Given the description of an element on the screen output the (x, y) to click on. 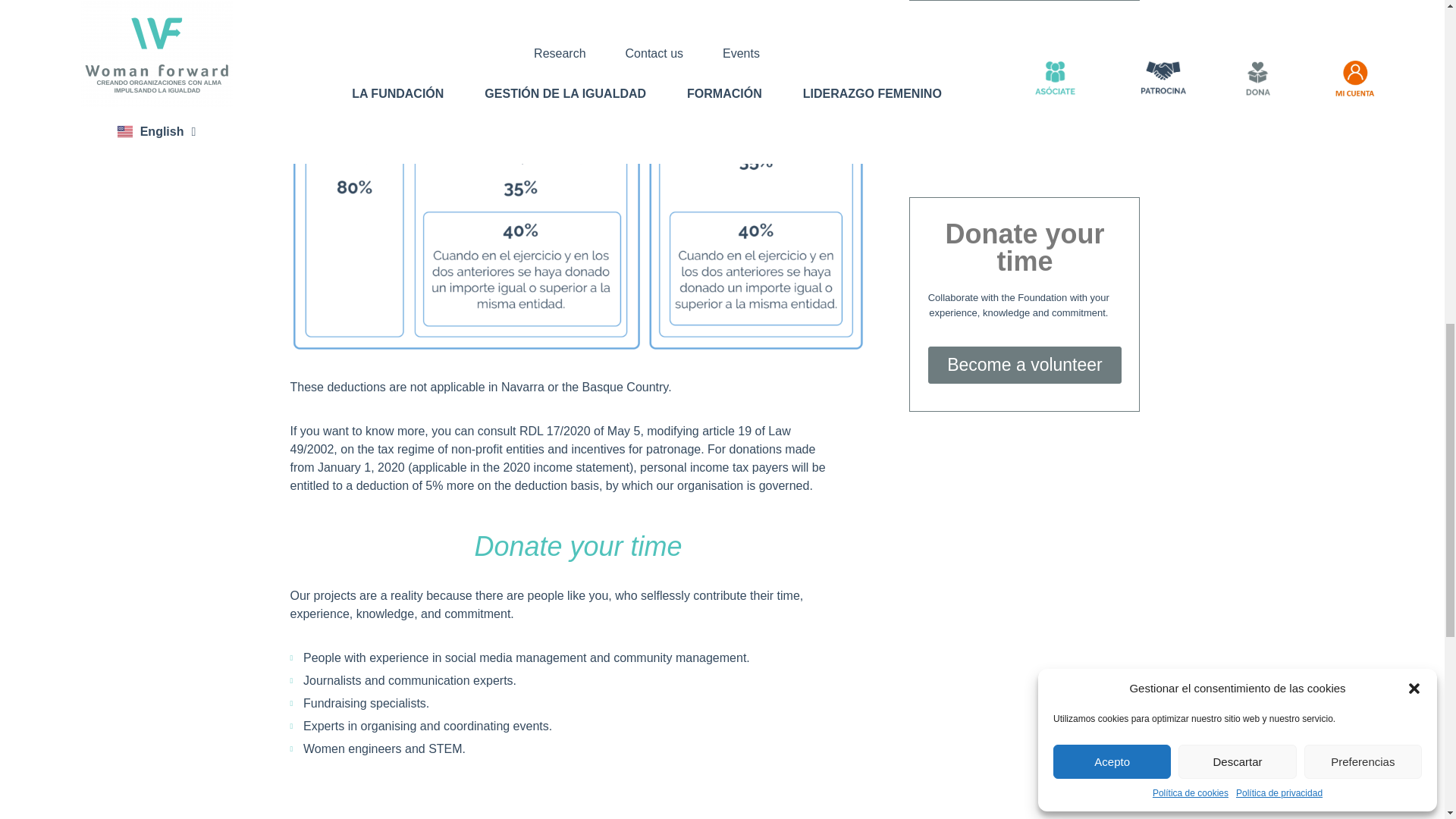
PayPal - The safer, easier way to pay online! (1022, 131)
